Given the description of an element on the screen output the (x, y) to click on. 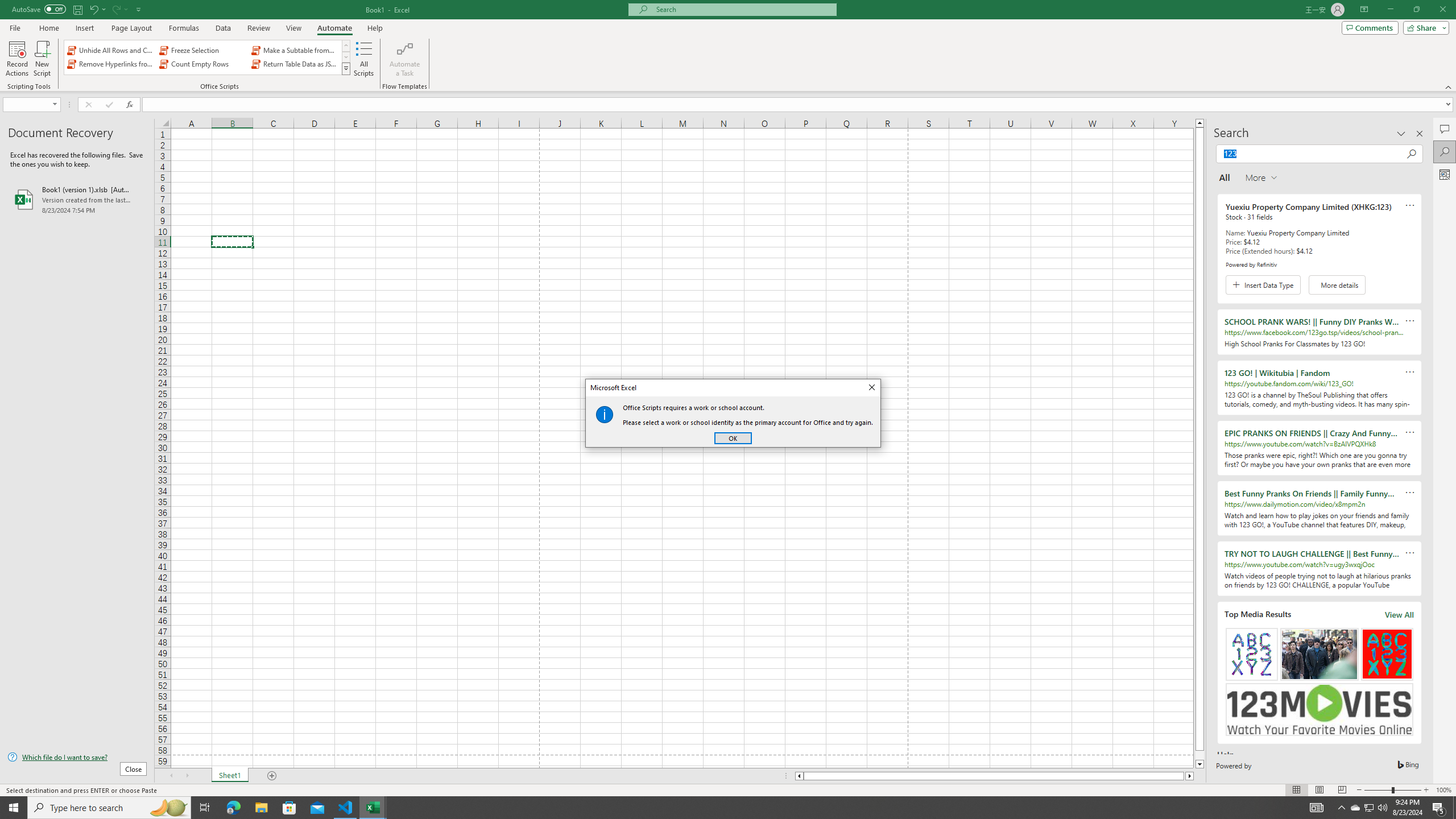
Q2790: 100% (1382, 807)
Count Empty Rows (202, 64)
OK (732, 437)
Show desktop (1454, 807)
Search highlights icon opens search home window (167, 807)
